Given the description of an element on the screen output the (x, y) to click on. 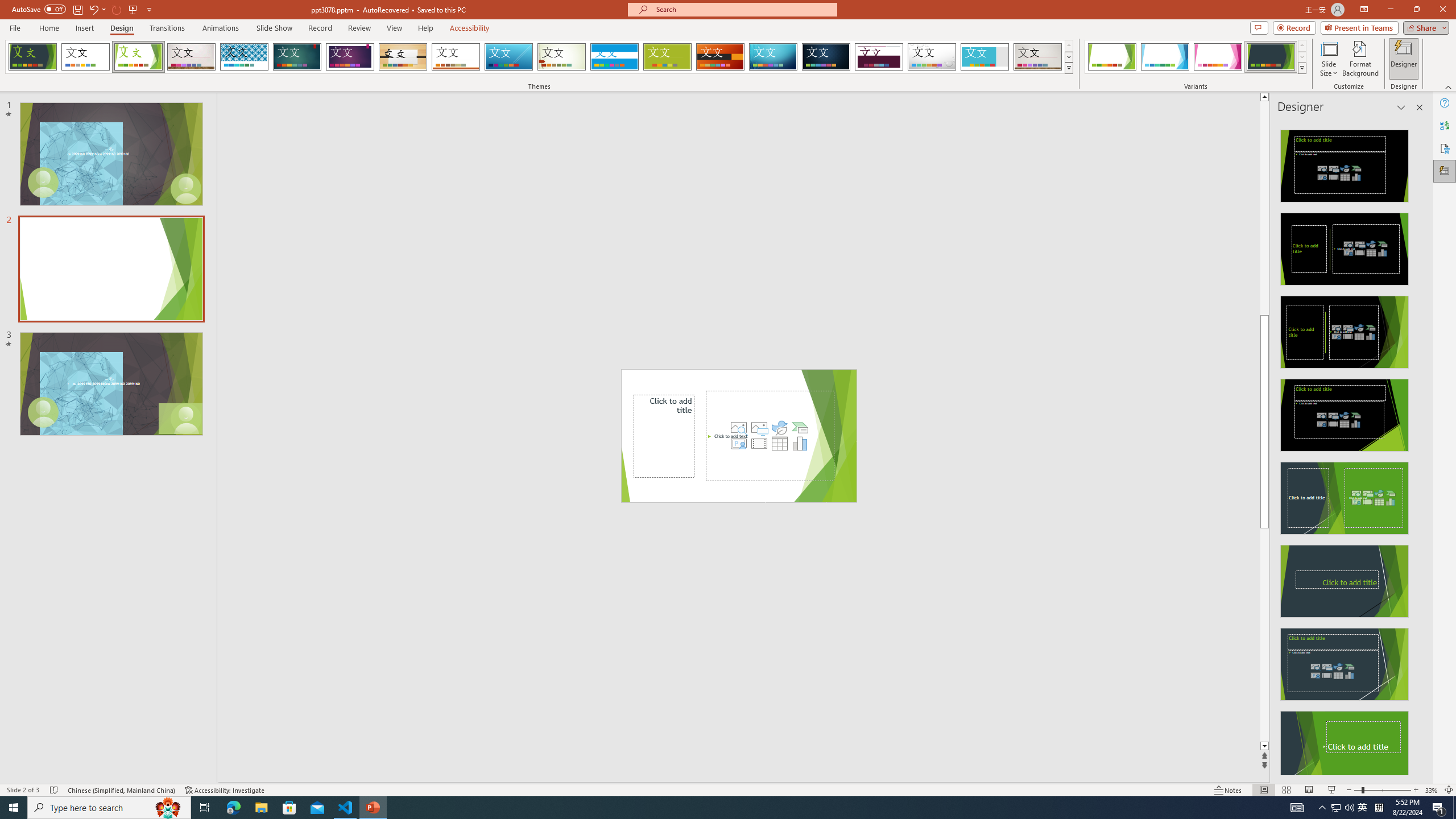
Frame (984, 56)
AutomationID: SlideThemesGallery (539, 56)
Facet Variant 4 (1270, 56)
Insert Chart (799, 443)
Basis (667, 56)
